Given the description of an element on the screen output the (x, y) to click on. 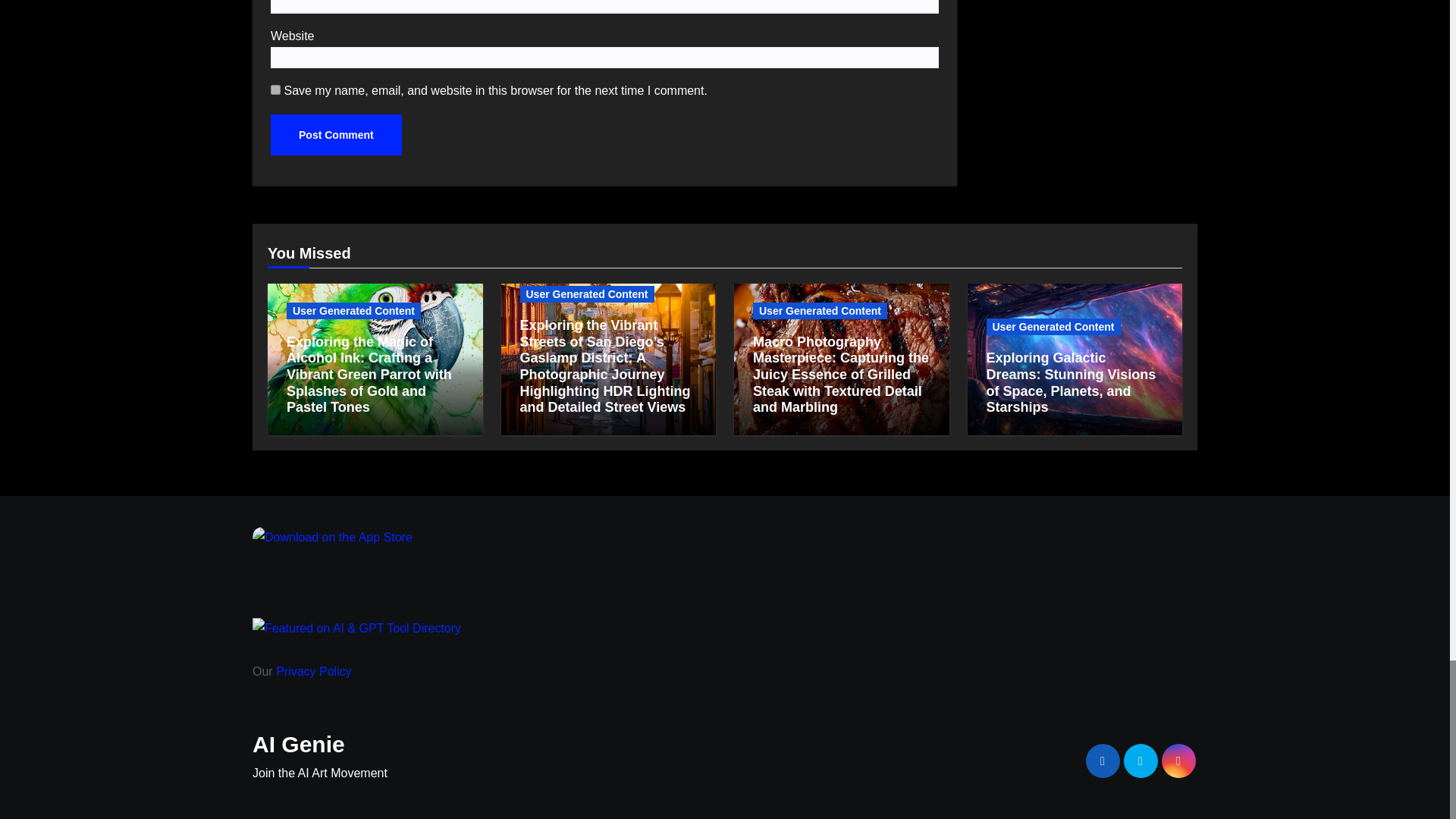
Post Comment (335, 134)
yes (275, 90)
